Given the description of an element on the screen output the (x, y) to click on. 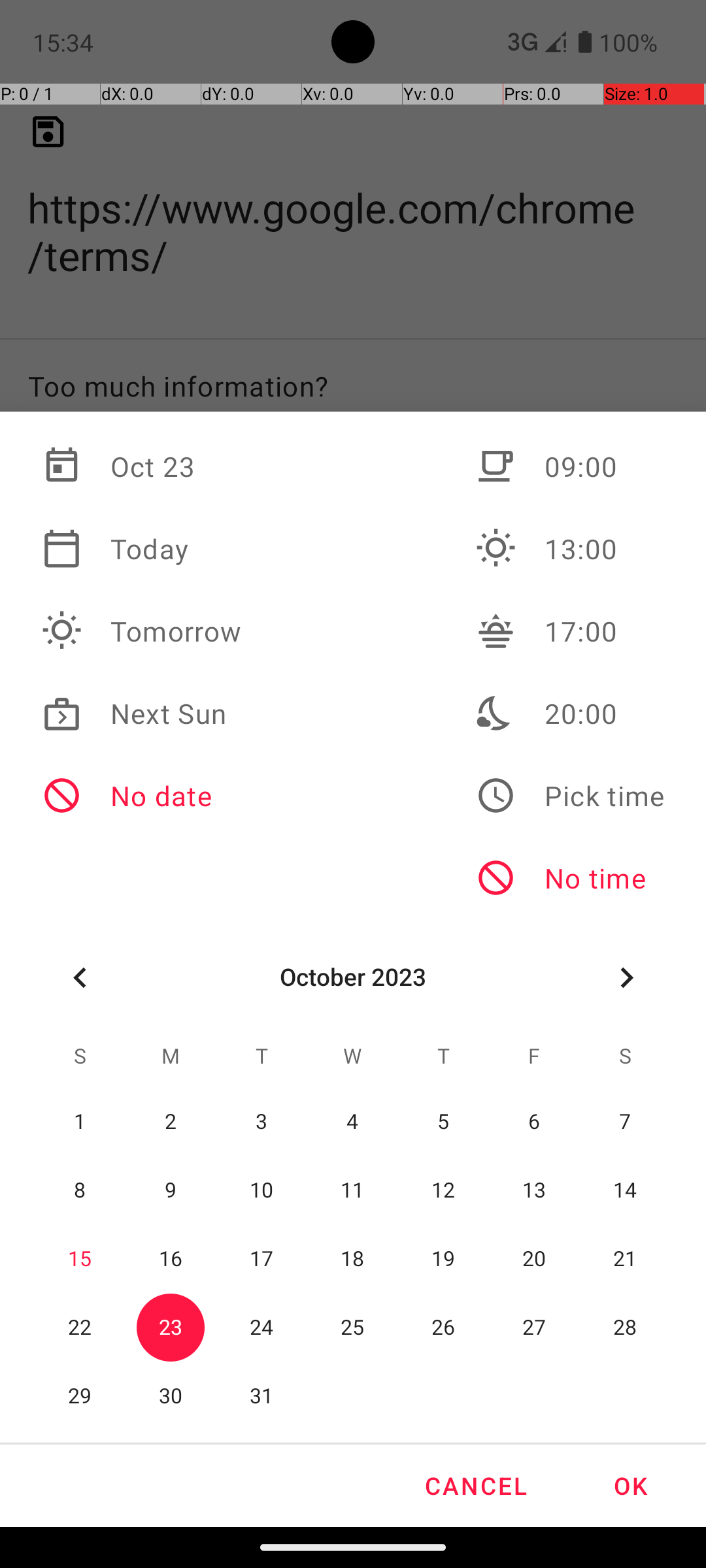
CANCEL Element type: android.widget.Button (474, 1485)
OK Element type: android.widget.Button (630, 1485)
Previous month Element type: android.widget.ImageButton (79, 977)
Next month Element type: android.widget.ImageButton (626, 977)
Oct 23 Element type: android.widget.CompoundButton (141, 466)
Today Element type: android.widget.CompoundButton (141, 548)
Tomorrow Element type: android.widget.CompoundButton (141, 630)
Next Sun Element type: android.widget.CompoundButton (141, 713)
No date Element type: android.widget.CompoundButton (141, 795)
09:00 Element type: android.widget.CompoundButton (569, 466)
13:00 Element type: android.widget.CompoundButton (569, 548)
17:00 Element type: android.widget.CompoundButton (569, 630)
20:00 Element type: android.widget.CompoundButton (569, 713)
Pick time Element type: android.widget.CompoundButton (569, 795)
No time Element type: android.widget.CompoundButton (569, 877)
1 Element type: android.view.View (79, 1121)
2 Element type: android.view.View (170, 1121)
3 Element type: android.view.View (261, 1121)
4 Element type: android.view.View (352, 1121)
5 Element type: android.view.View (443, 1121)
6 Element type: android.view.View (533, 1121)
7 Element type: android.view.View (624, 1121)
8 Element type: android.view.View (79, 1190)
9 Element type: android.view.View (170, 1190)
10 Element type: android.view.View (261, 1190)
11 Element type: android.view.View (352, 1190)
12 Element type: android.view.View (443, 1190)
13 Element type: android.view.View (533, 1190)
14 Element type: android.view.View (624, 1190)
15 Element type: android.view.View (79, 1259)
16 Element type: android.view.View (170, 1259)
17 Element type: android.view.View (261, 1259)
18 Element type: android.view.View (352, 1259)
19 Element type: android.view.View (443, 1259)
20 Element type: android.view.View (533, 1259)
21 Element type: android.view.View (624, 1259)
22 Element type: android.view.View (79, 1327)
23 Element type: android.view.View (170, 1327)
24 Element type: android.view.View (261, 1327)
25 Element type: android.view.View (352, 1327)
26 Element type: android.view.View (443, 1327)
27 Element type: android.view.View (533, 1327)
28 Element type: android.view.View (624, 1327)
29 Element type: android.view.View (79, 1396)
30 Element type: android.view.View (170, 1396)
31 Element type: android.view.View (261, 1396)
